Given the description of an element on the screen output the (x, y) to click on. 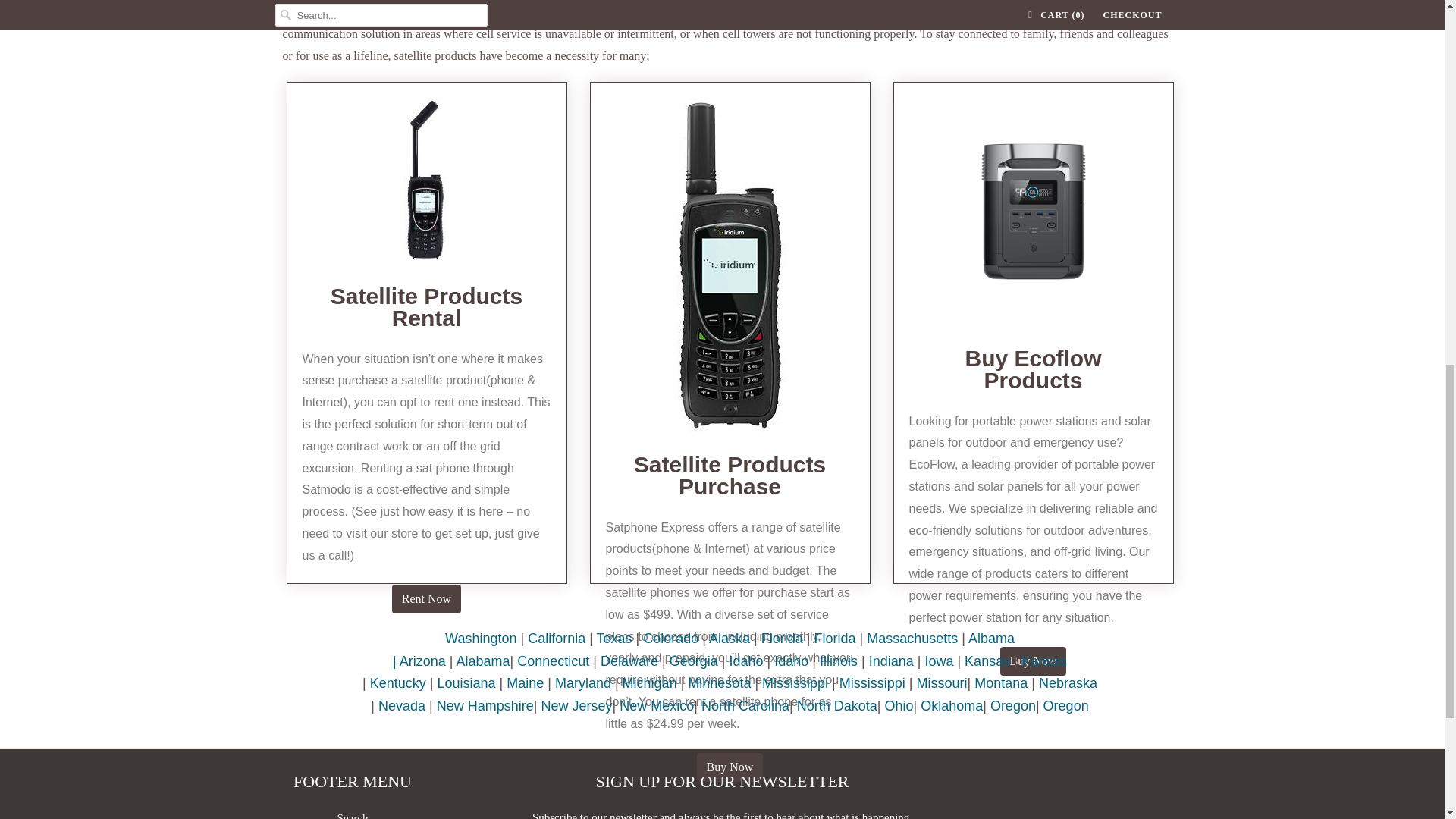
Alaska (729, 638)
Illinois (838, 661)
Rent Now (426, 598)
Indiana (891, 661)
alabama (484, 661)
Colorado (670, 638)
California (556, 638)
Buy Now (1033, 661)
arizona (421, 661)
Illinois (791, 661)
California Satellite (556, 638)
Connecticut (552, 661)
Alaska Satellite (729, 638)
Washington (480, 638)
Florida (782, 638)
